Given the description of an element on the screen output the (x, y) to click on. 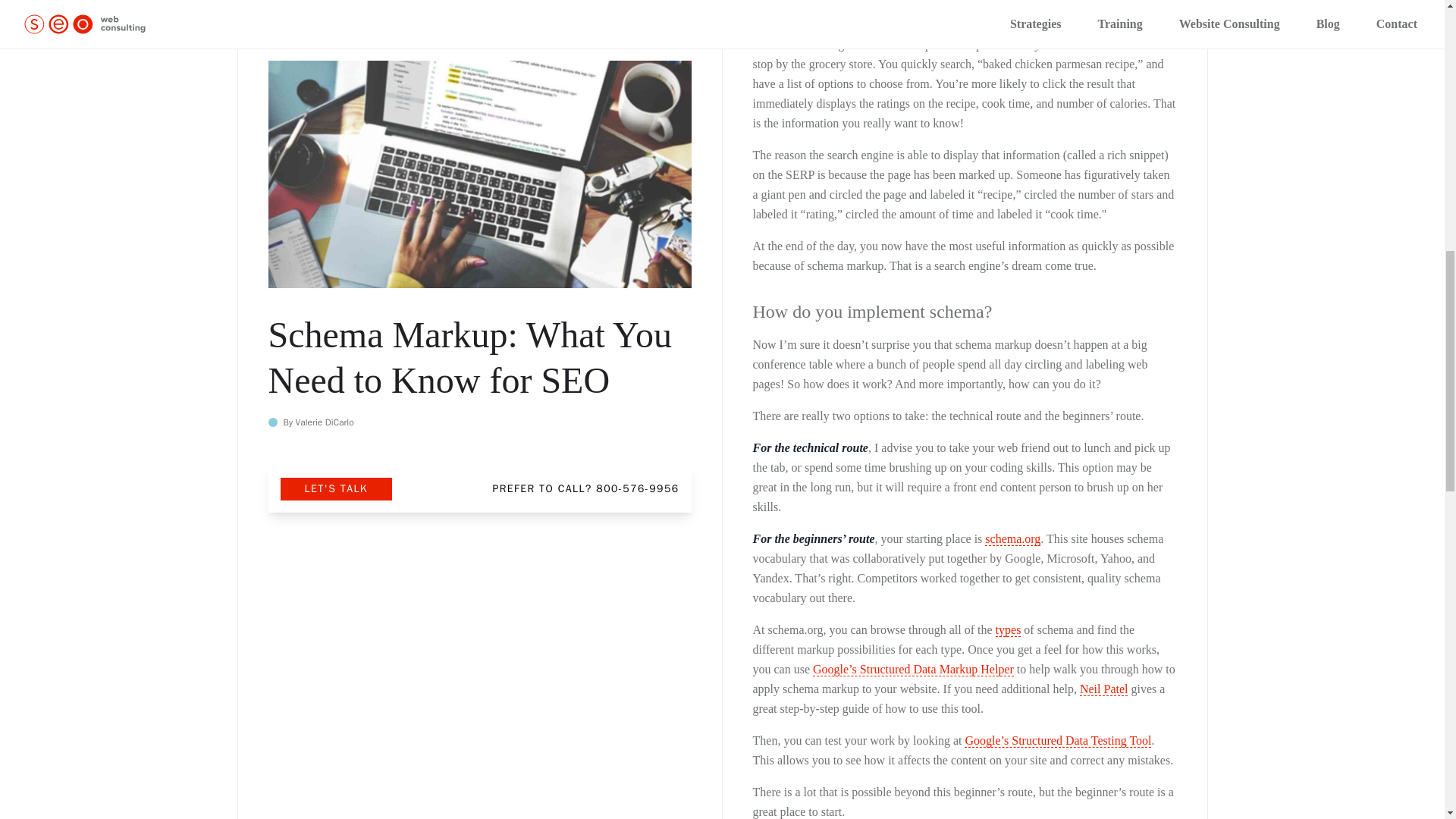
schema.org (1013, 539)
Neil Patel (1104, 689)
types (1008, 630)
